Given the description of an element on the screen output the (x, y) to click on. 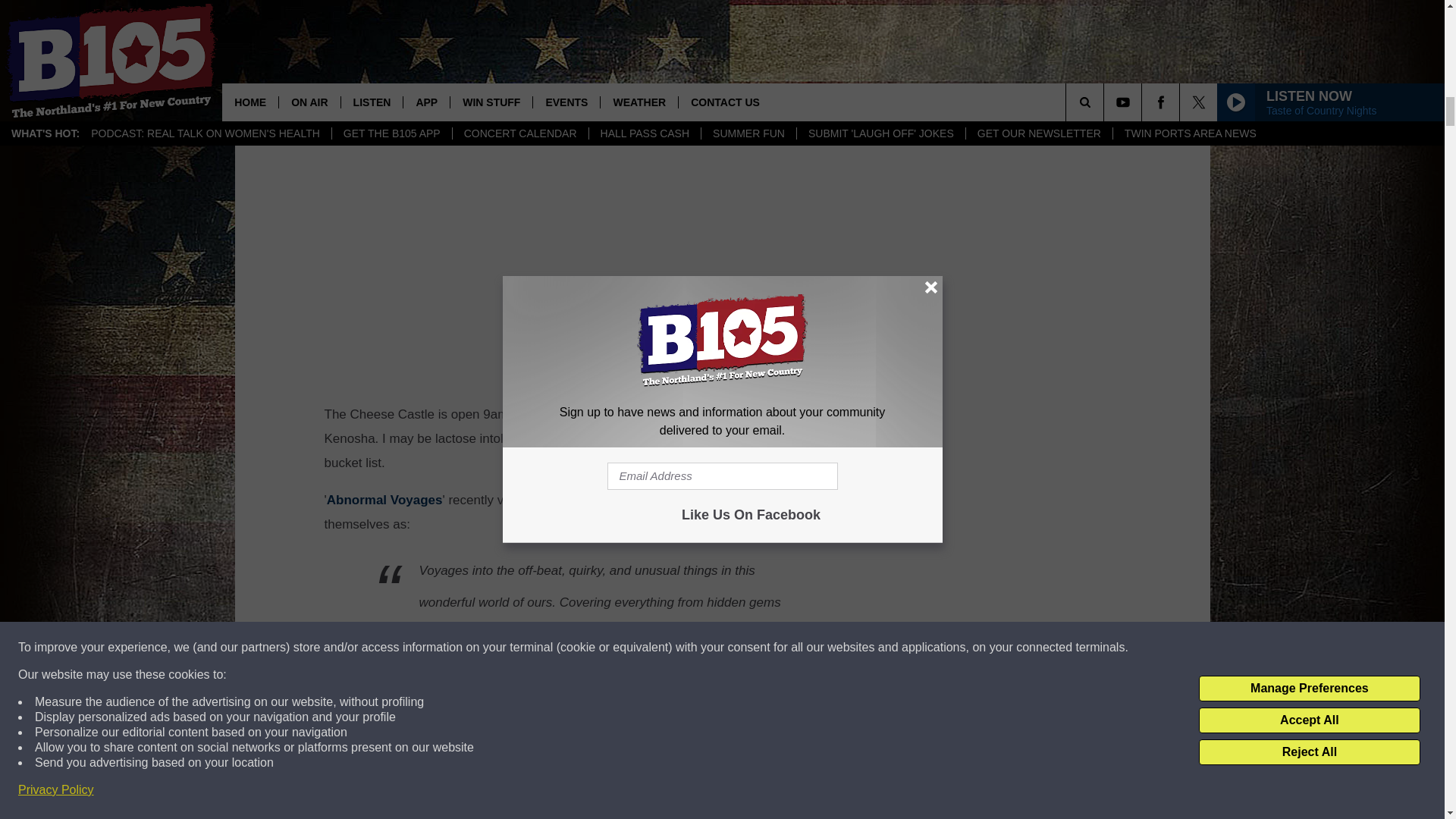
Johnny Cash (397, 6)
